Given the description of an element on the screen output the (x, y) to click on. 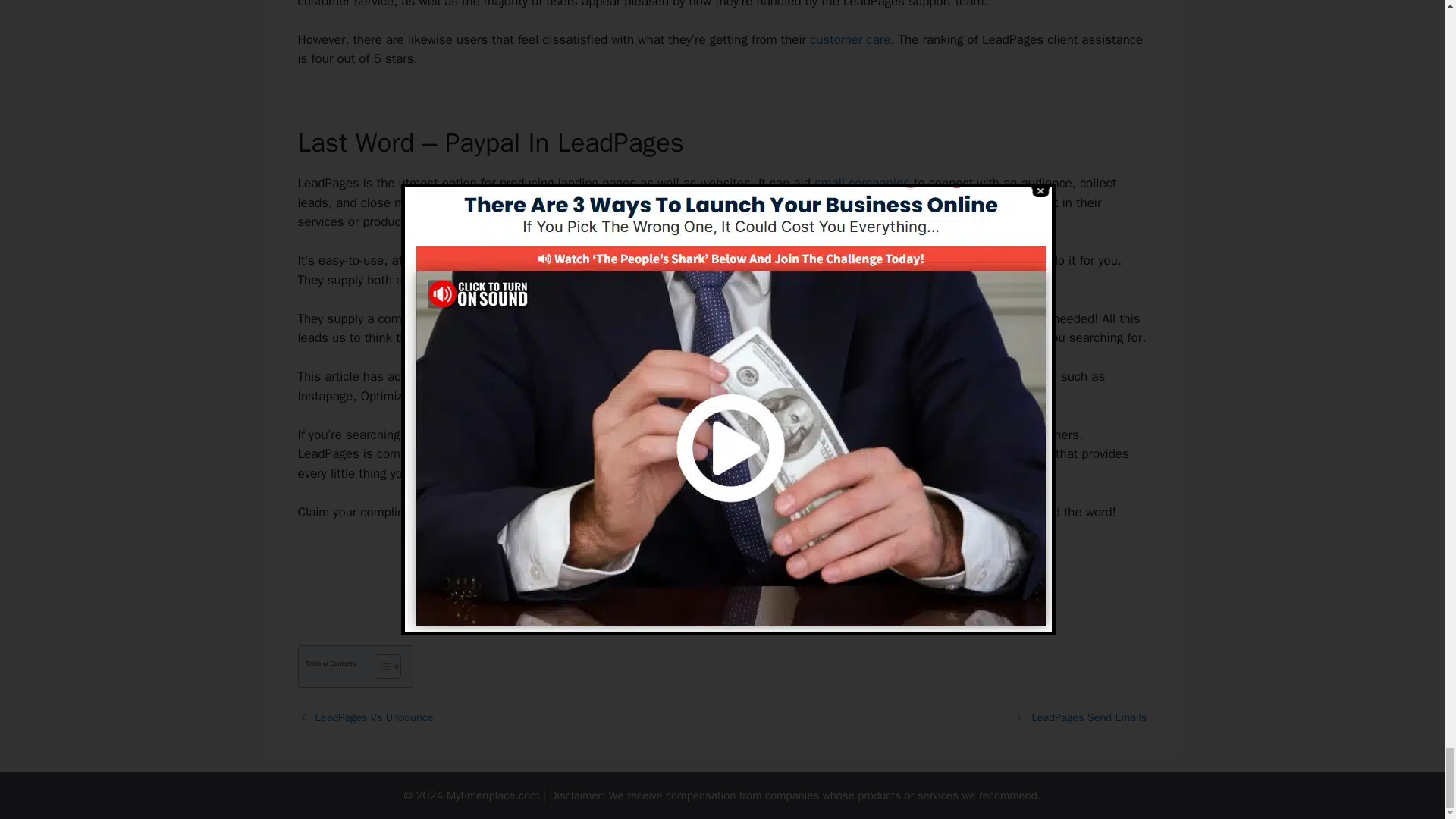
customer care (849, 39)
small companies (861, 182)
beautiful landing page (653, 434)
